Given the description of an element on the screen output the (x, y) to click on. 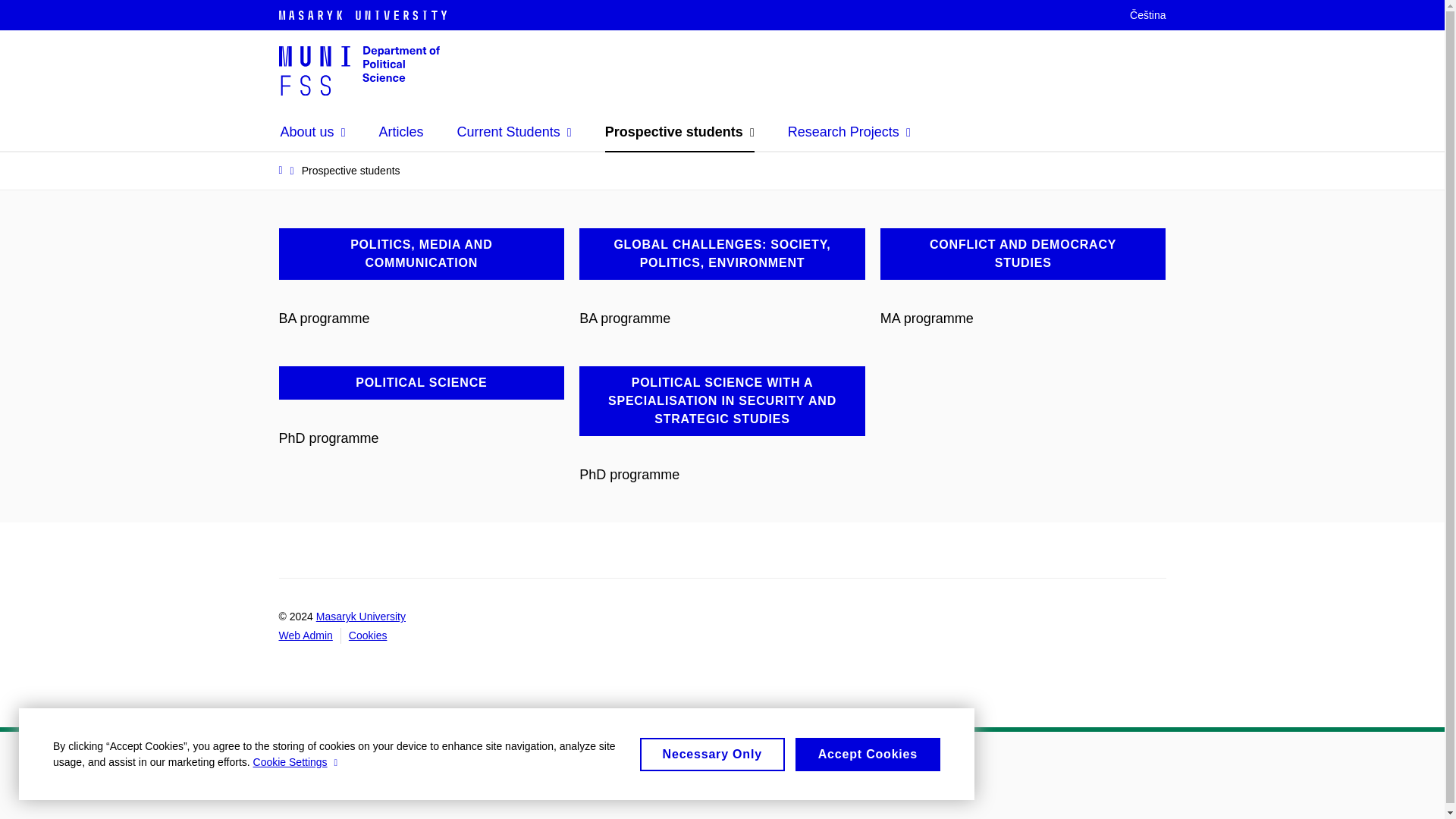
Current Students (514, 131)
Department of Political Science (359, 69)
Research Projects (849, 131)
Department of Political Science (359, 69)
Masaryk University (377, 15)
Prospective students (679, 131)
Homepage site (359, 69)
About us (313, 131)
Articles (400, 131)
